Given the description of an element on the screen output the (x, y) to click on. 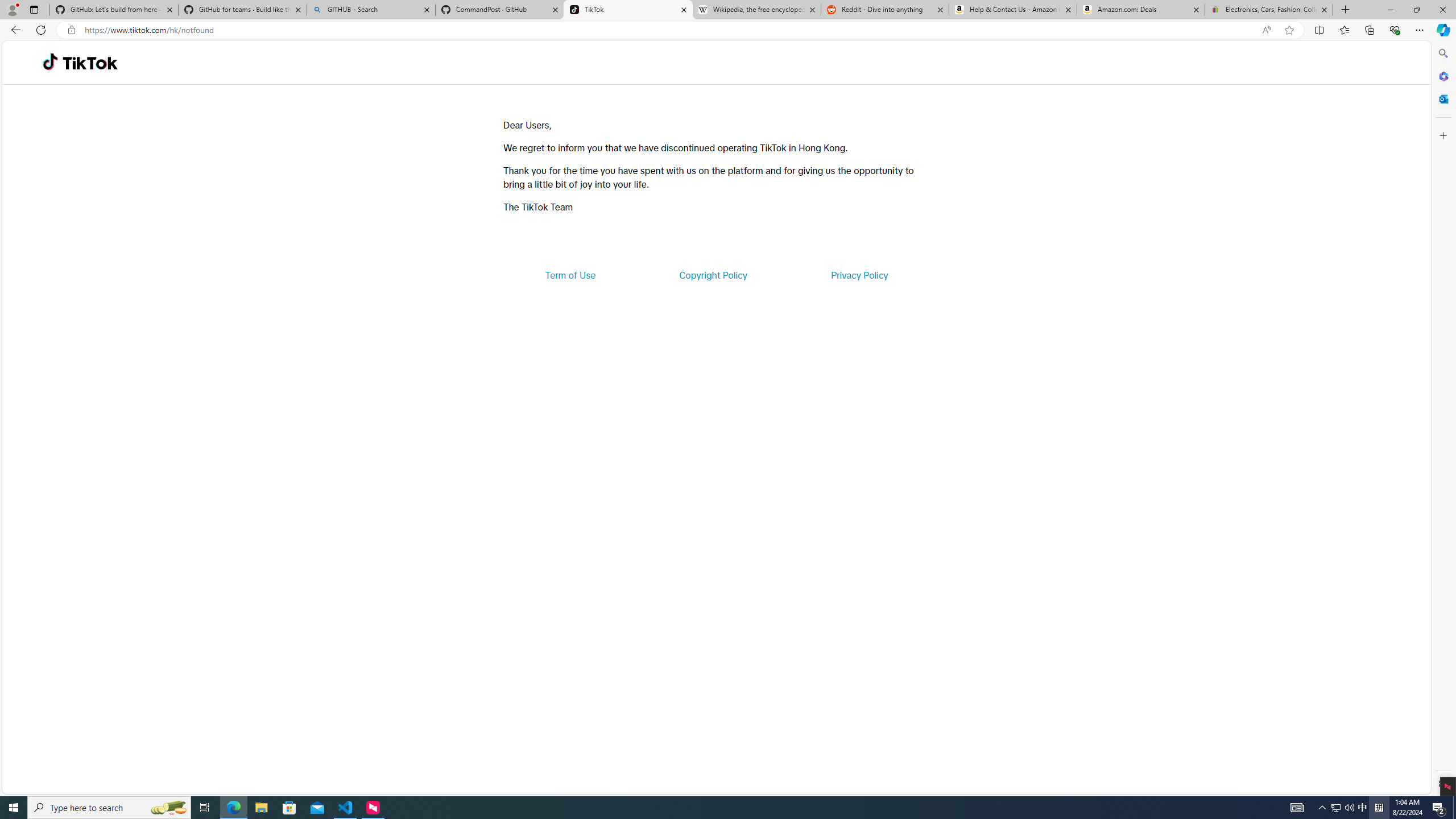
Term of Use (569, 274)
Privacy Policy (858, 274)
Wikipedia, the free encyclopedia (756, 9)
Help & Contact Us - Amazon Customer Service (1012, 9)
